Given the description of an element on the screen output the (x, y) to click on. 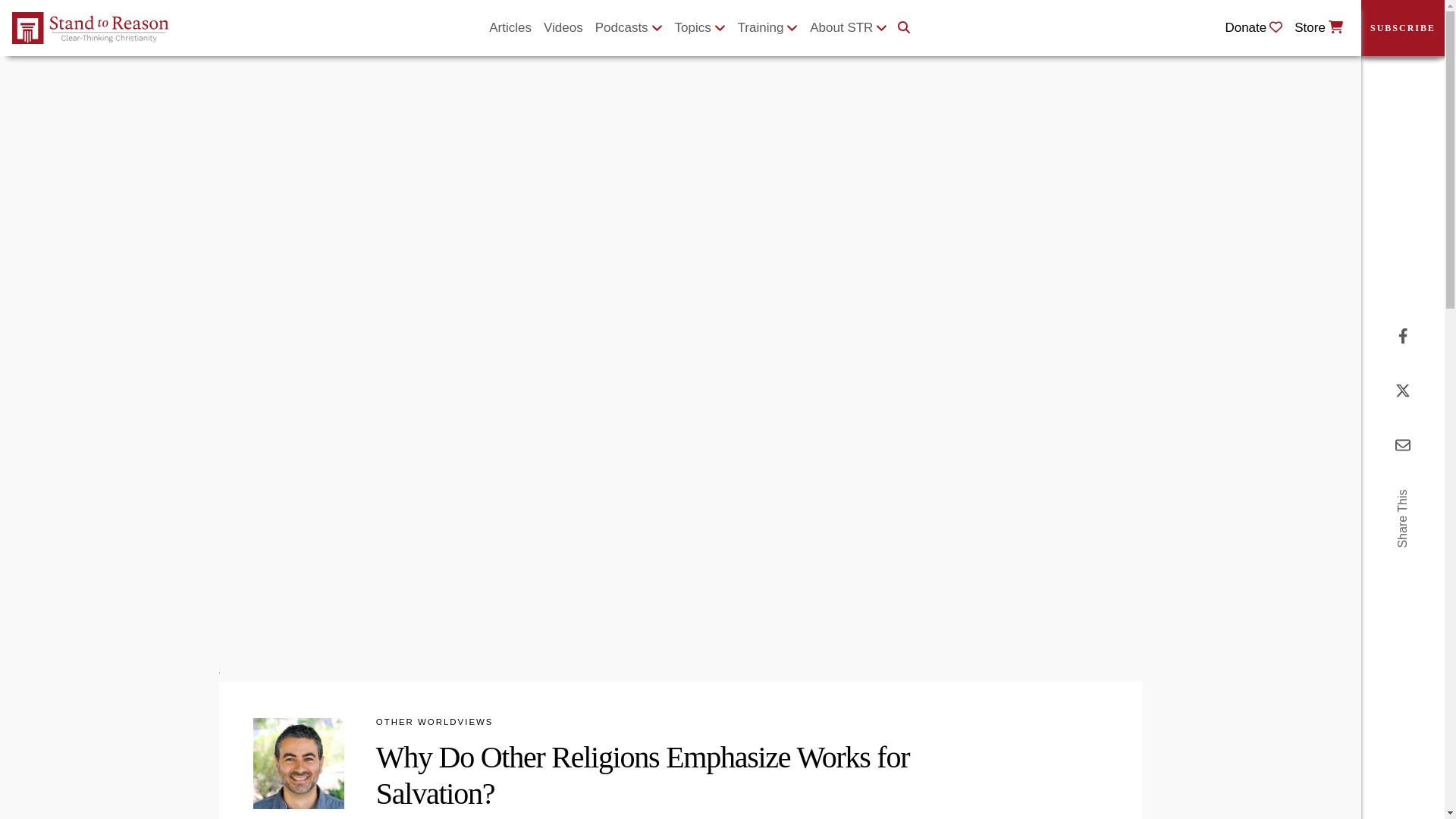
Articles (510, 28)
Topics (700, 28)
About STR (848, 28)
Videos (563, 28)
Training (768, 28)
Podcasts (628, 28)
